Given the description of an element on the screen output the (x, y) to click on. 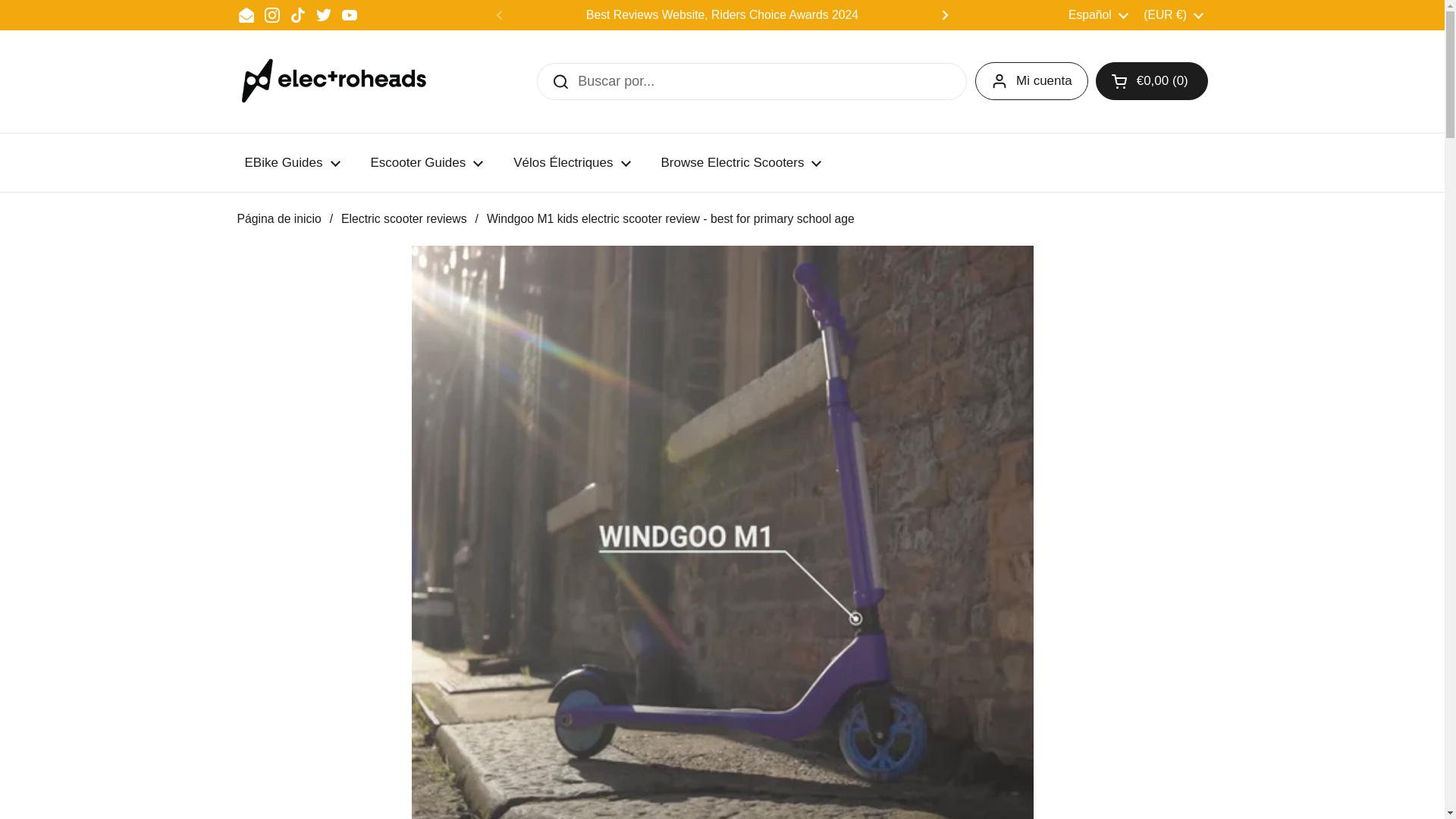
Escooter Guides (426, 162)
Read our expert guides (1168, 14)
TikTok (296, 14)
EBike Guides (291, 162)
YouTube (348, 14)
Email (244, 14)
Twitter (322, 14)
Abrir carrito (1152, 80)
Electroheads Media Ltd (340, 81)
